Given the description of an element on the screen output the (x, y) to click on. 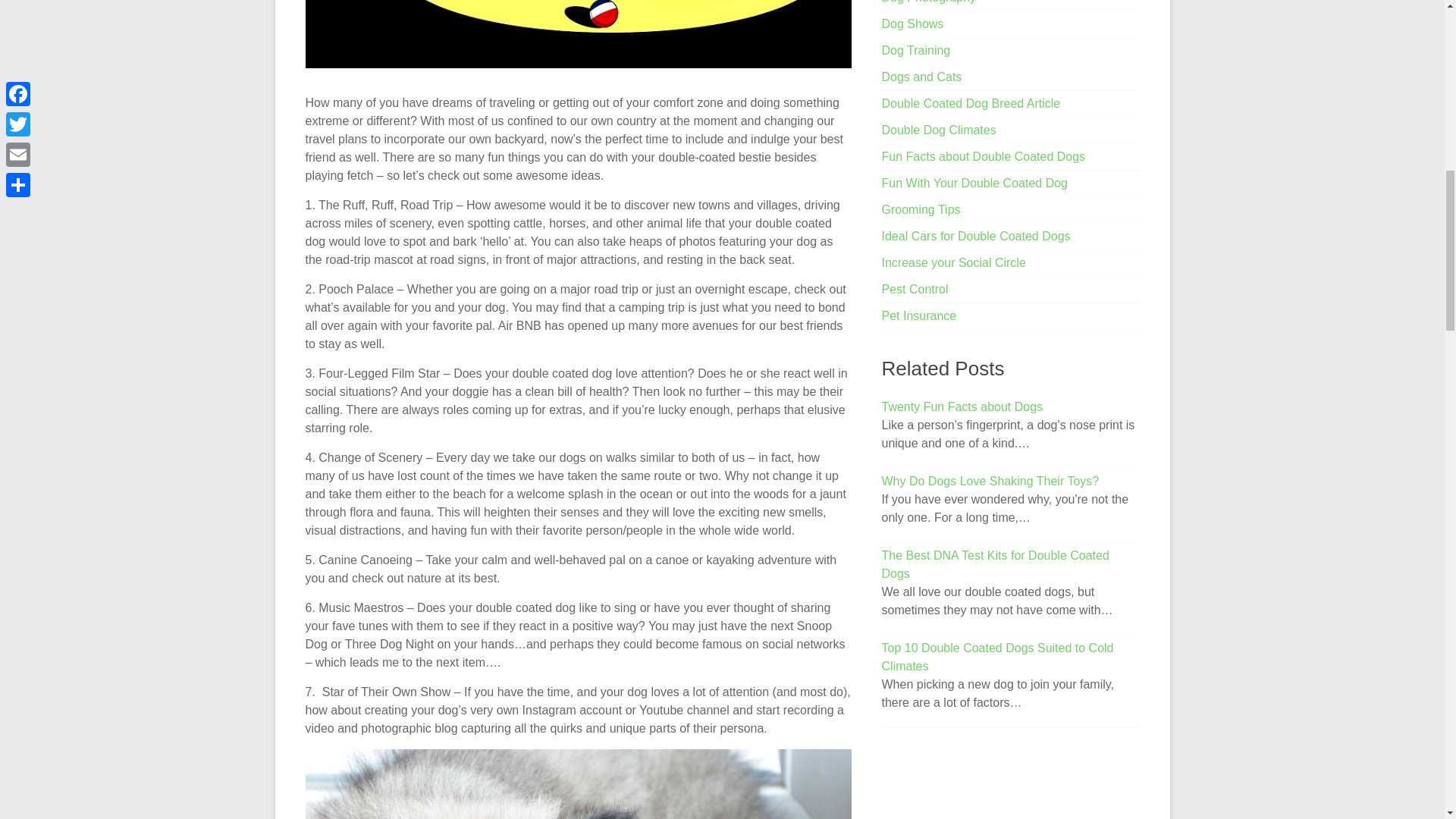
Dog Photography (929, 2)
Dog Training (916, 50)
Dogs and Cats (922, 76)
Dog Shows (912, 23)
Double Coated Dog Breed Article (971, 103)
Double Dog Climates (938, 129)
